Given the description of an element on the screen output the (x, y) to click on. 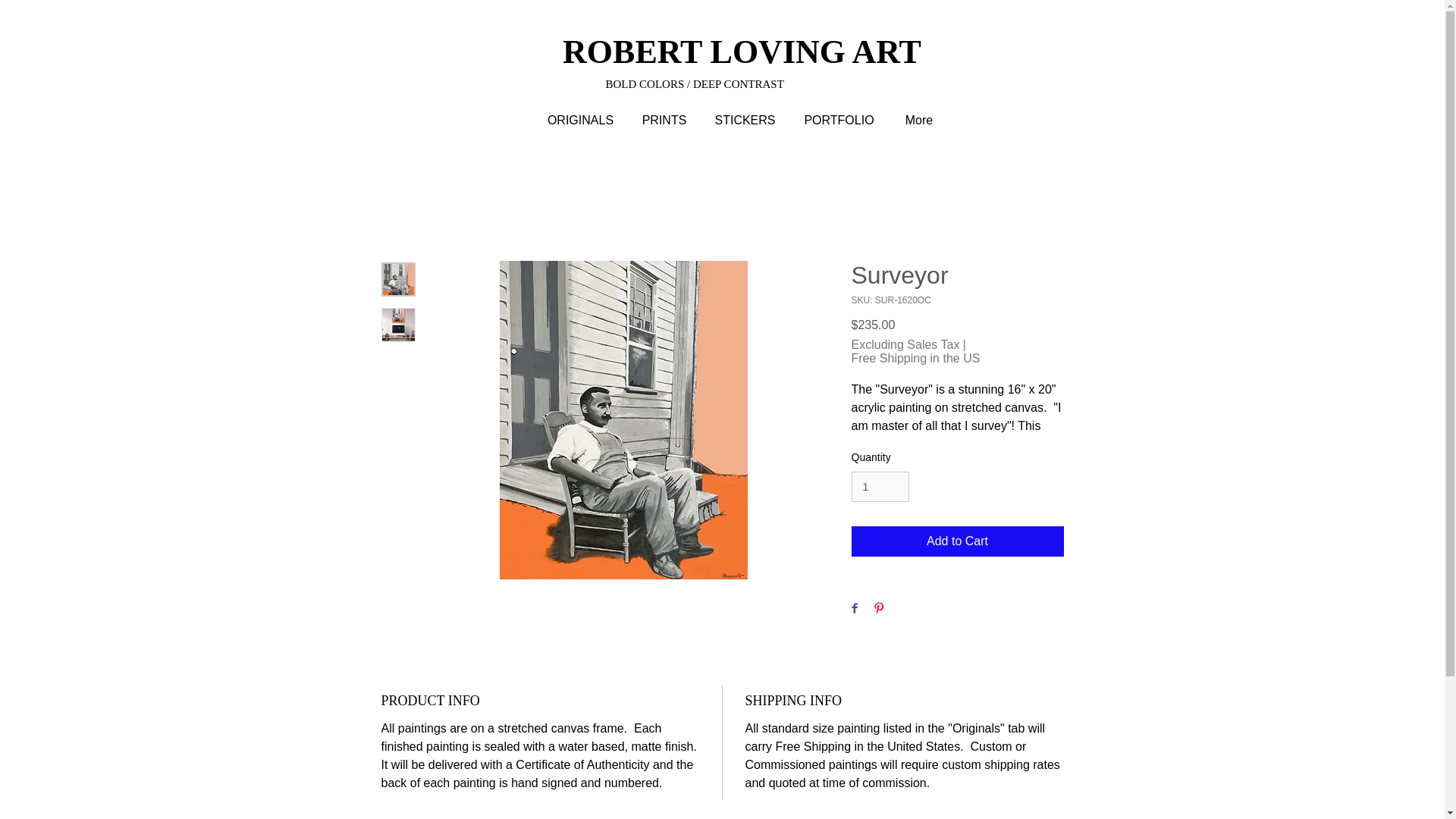
STICKERS (744, 120)
ORIGINALS (580, 120)
Free Shipping in the US (914, 358)
PORTFOLIO (838, 120)
1 (879, 486)
Add to Cart (956, 541)
PRINTS (664, 120)
